Given the description of an element on the screen output the (x, y) to click on. 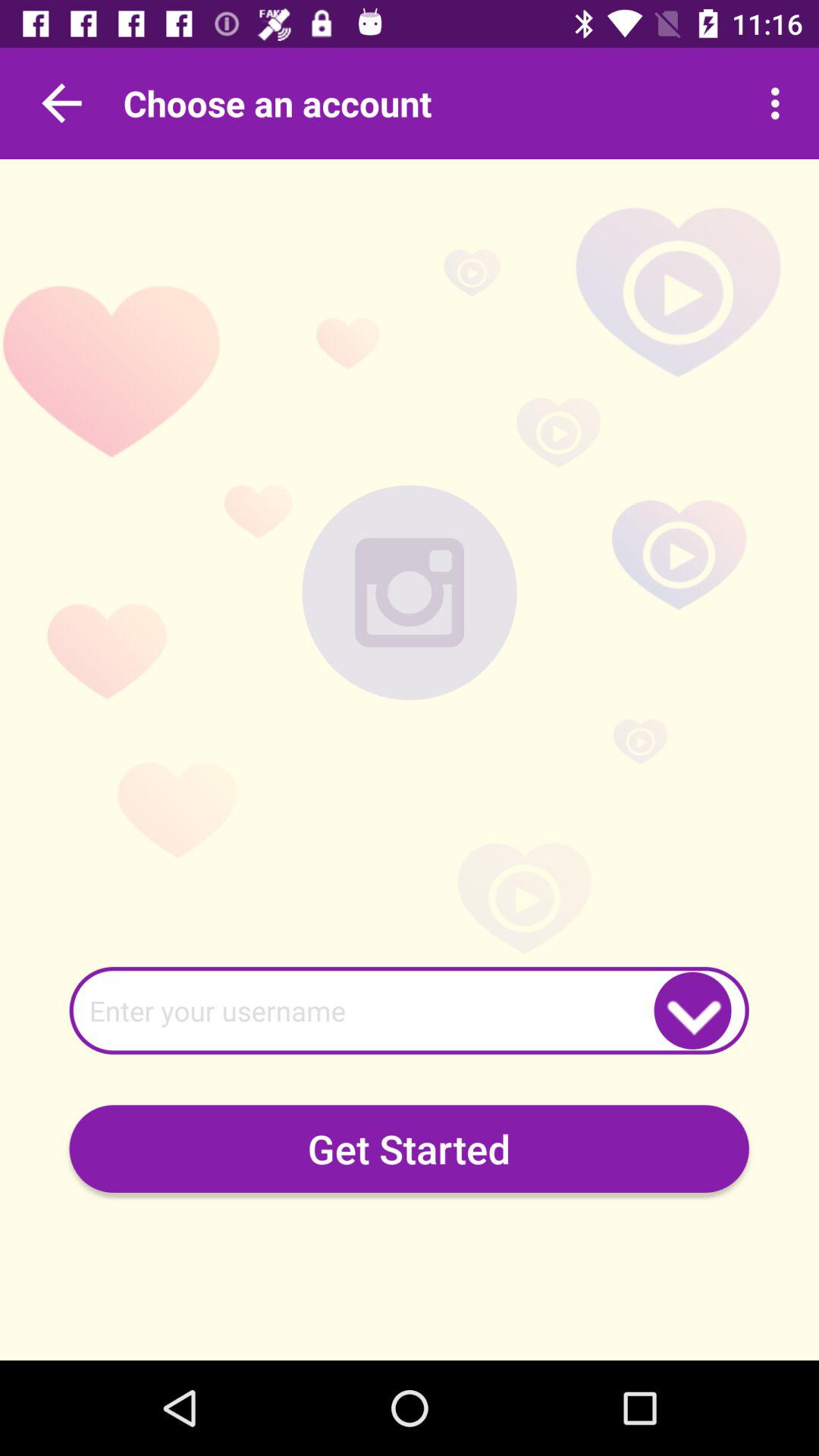
add photo (409, 592)
